Given the description of an element on the screen output the (x, y) to click on. 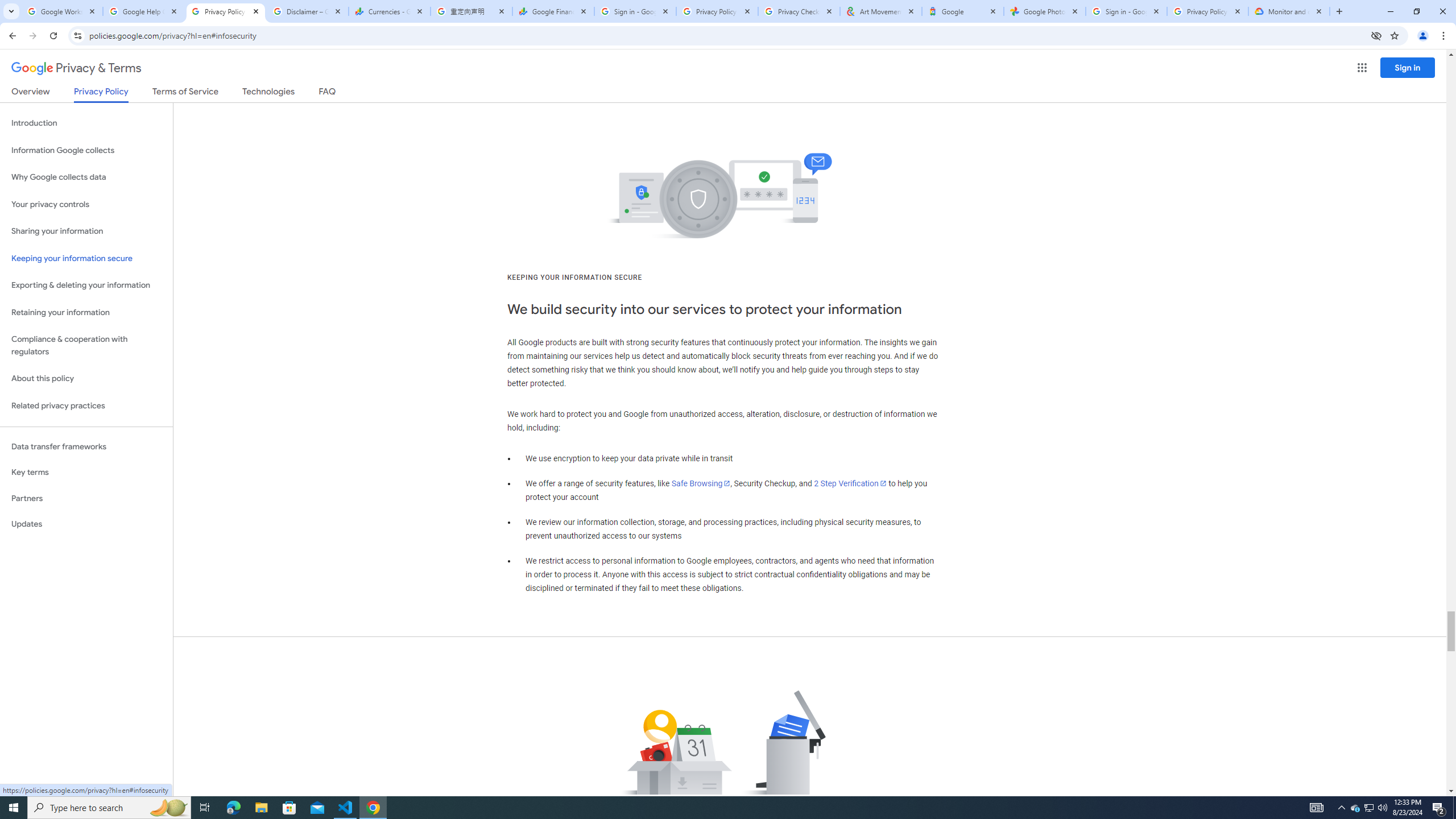
Updates (86, 524)
Exporting & deleting your information (86, 284)
Why Google collects data (86, 176)
Key terms (86, 472)
Your privacy controls (86, 204)
